Given the description of an element on the screen output the (x, y) to click on. 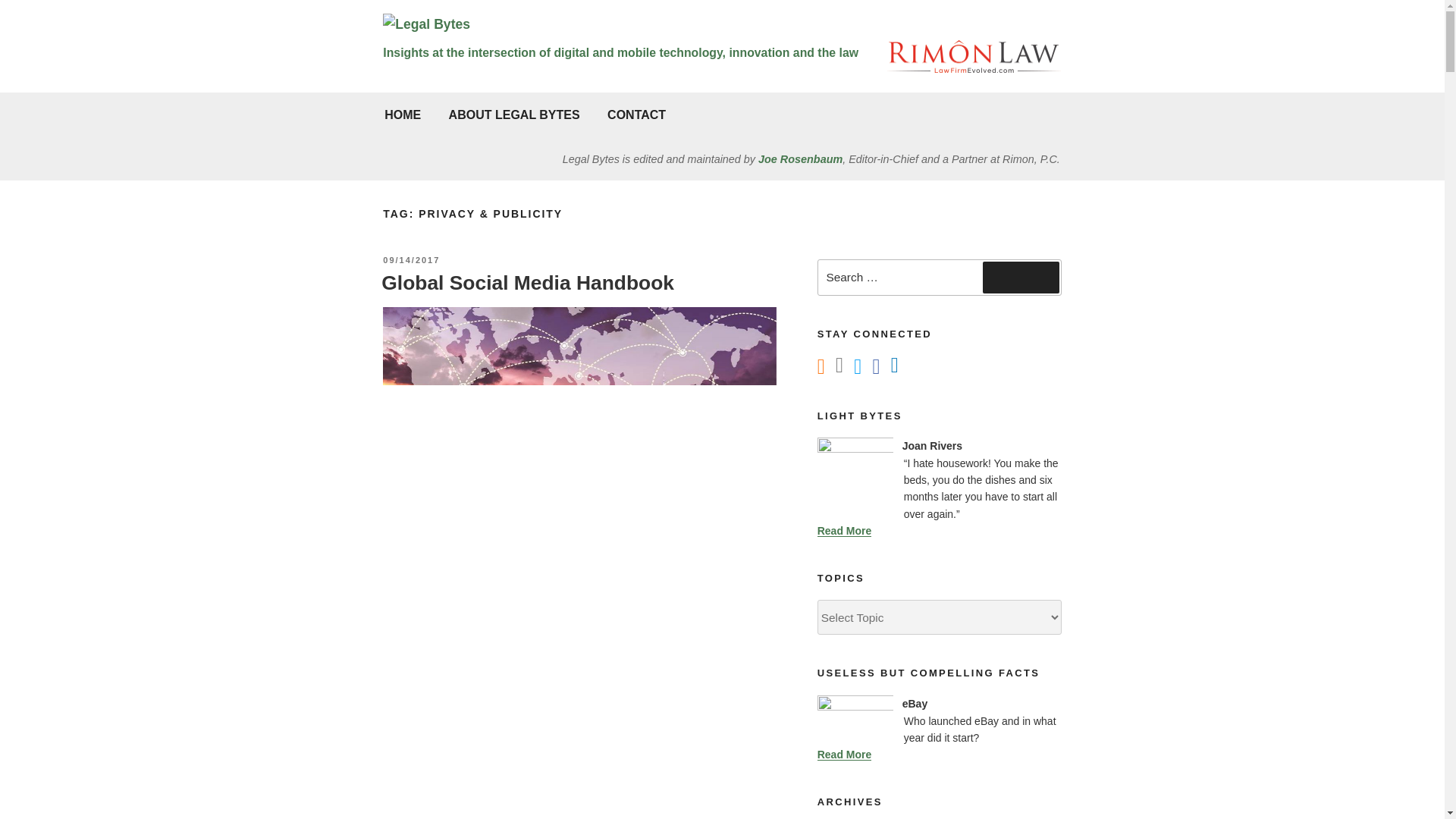
Global Social Media Handbook (527, 282)
ABOUT LEGAL BYTES (513, 115)
Joe Rosenbaum (800, 159)
CONTACT (636, 115)
